Given the description of an element on the screen output the (x, y) to click on. 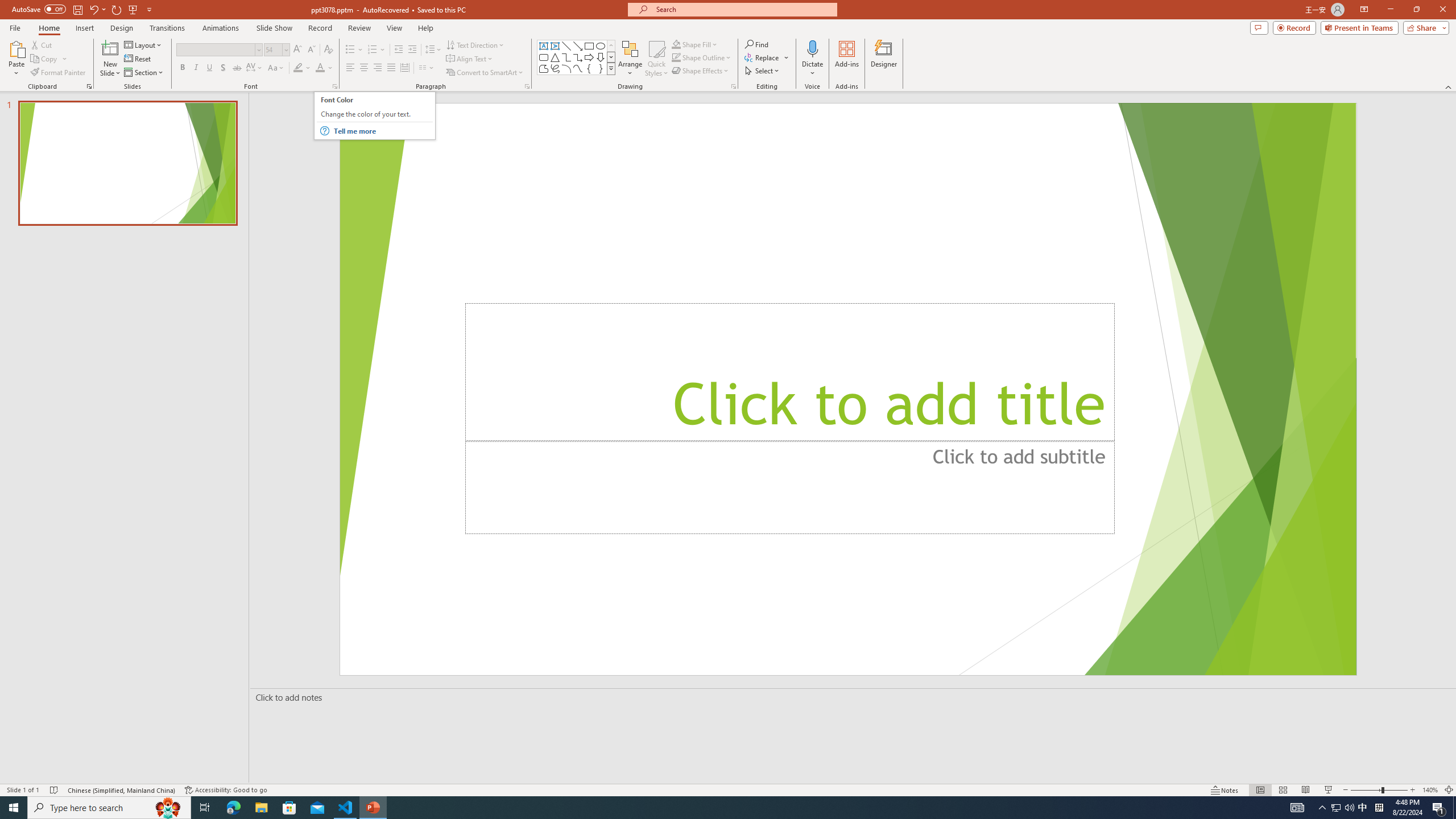
Replace... (762, 56)
Insert (83, 28)
System (6, 6)
Help (425, 28)
Normal (1260, 790)
Class: MsoCommandBar (728, 789)
Text Highlight Color (302, 67)
Connector: Elbow Arrow (577, 57)
Font Color (324, 67)
Shape Outline Green, Accent 1 (675, 56)
Columns (426, 67)
Redo (117, 9)
Right Brace (600, 68)
Slide Show (273, 28)
Find... (756, 44)
